Given the description of an element on the screen output the (x, y) to click on. 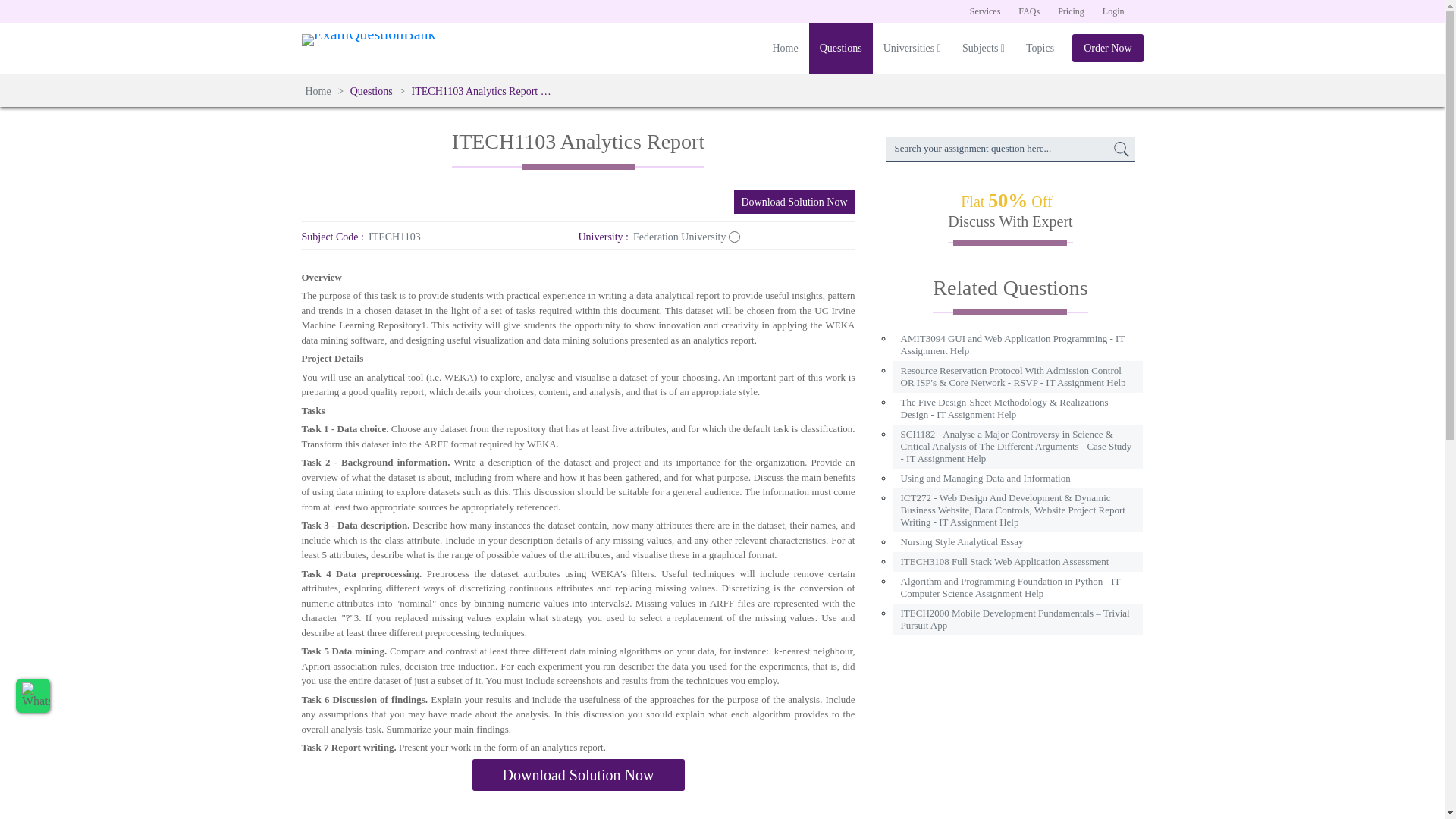
Topics (1039, 47)
Home (784, 47)
FAQs (1028, 11)
Subjects (983, 47)
Home (319, 91)
Pricing (1070, 11)
Universities (912, 47)
Questions (371, 91)
Questions (840, 47)
Order Now (1106, 48)
Services (985, 11)
Login (1113, 11)
